Given the description of an element on the screen output the (x, y) to click on. 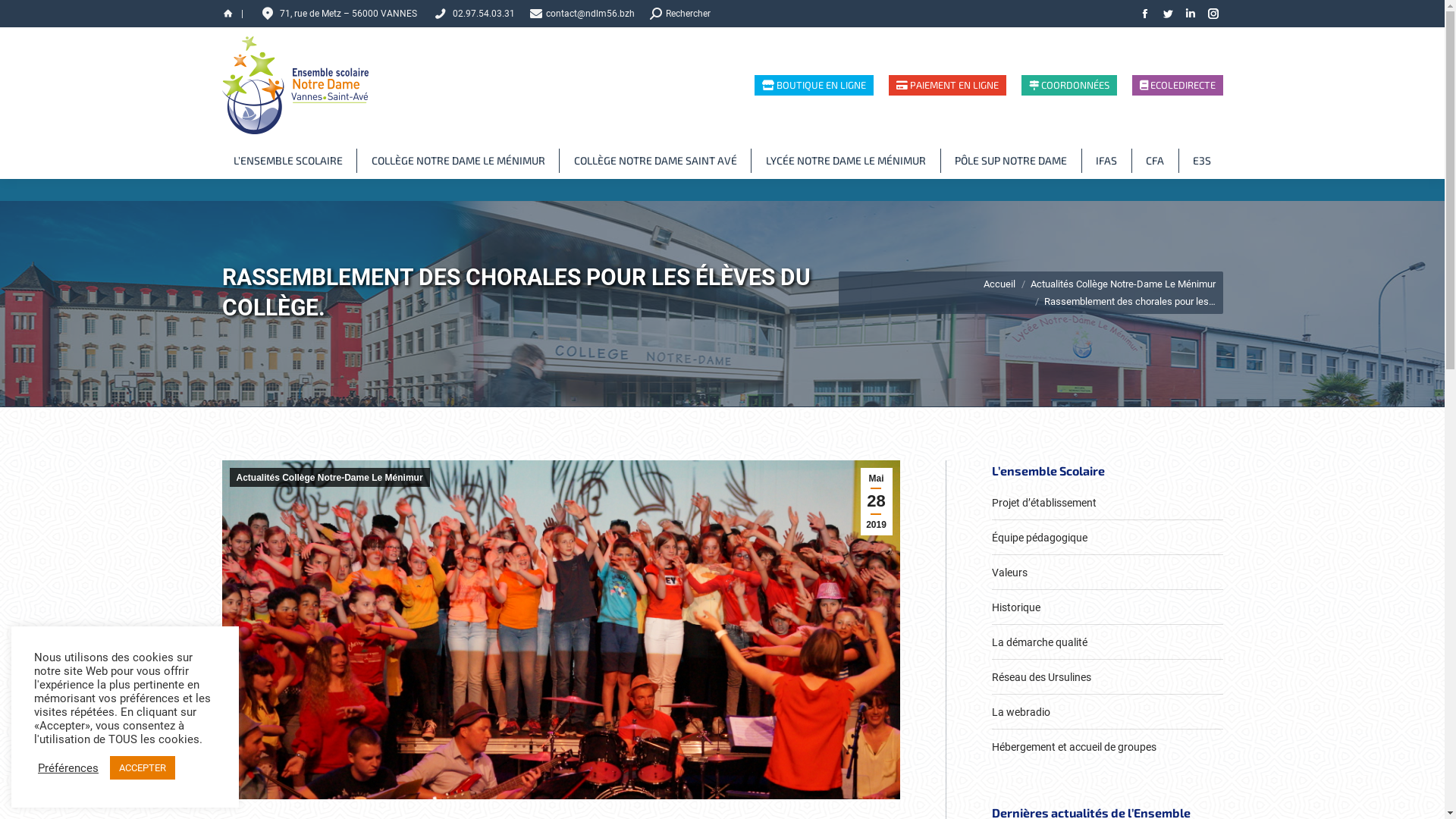
IFAS Element type: text (1106, 160)
Instagram page opens in new window Element type: text (1212, 13)
ACCEPTER Element type: text (142, 767)
DSC01202 Element type: hover (560, 629)
E3S Element type: text (1201, 160)
Historique Element type: text (1015, 607)
Accueil Element type: hover (227, 13)
LinkedIn page opens in new window Element type: text (1189, 13)
Accueil Element type: text (998, 283)
Facebook page opens in new window Element type: text (1144, 13)
BOUTIQUE EN LIGNE Element type: text (813, 84)
Twitter page opens in new window Element type: text (1166, 13)
Valeurs Element type: text (1009, 572)
PAIEMENT EN LIGNE Element type: text (947, 84)
ECOLEDIRECTE Element type: text (1176, 84)
Go! Element type: text (23, 16)
Rechercher Element type: text (679, 13)
Mai
28
2019 Element type: text (875, 501)
CFA Element type: text (1154, 160)
La webradio Element type: text (1020, 711)
